Given the description of an element on the screen output the (x, y) to click on. 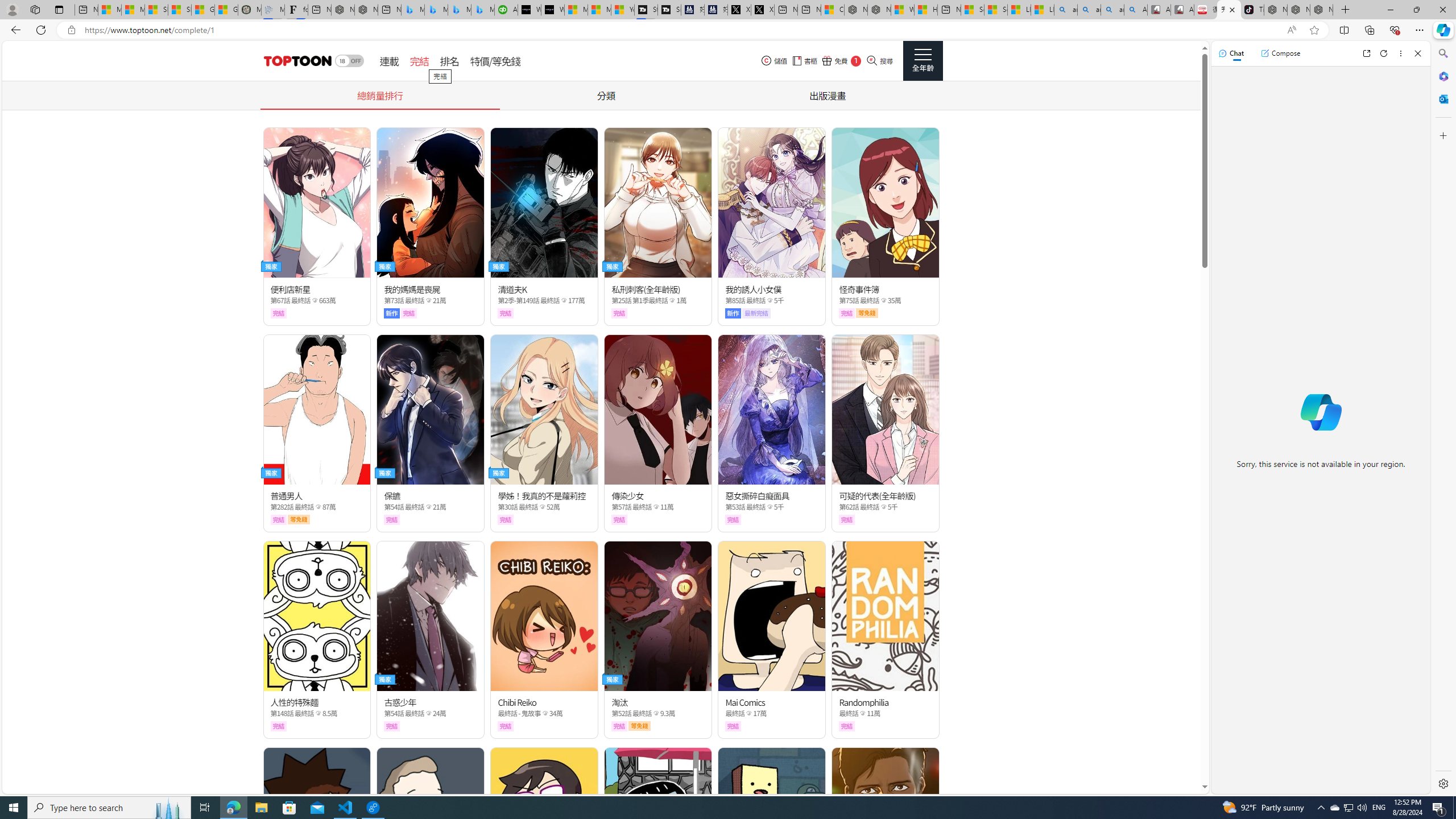
Class: side_menu_btn actionRightMenuBtn (922, 60)
Amazon Echo Robot - Search Images (1135, 9)
